Given the description of an element on the screen output the (x, y) to click on. 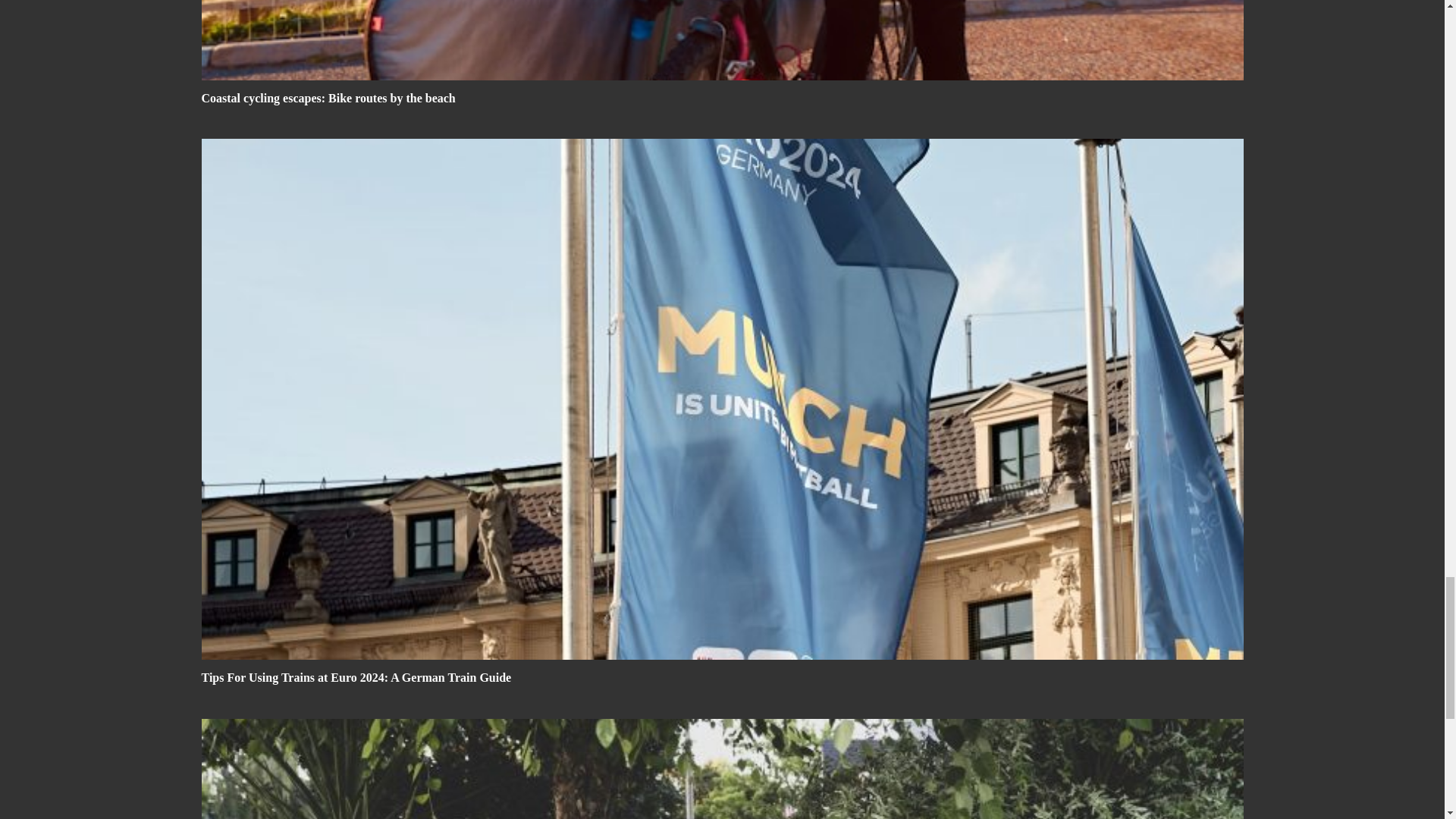
Coastal cycling escapes: Bike routes by the beach (328, 97)
Coastal cycling escapes: Bike routes by the beach (722, 40)
